Given the description of an element on the screen output the (x, y) to click on. 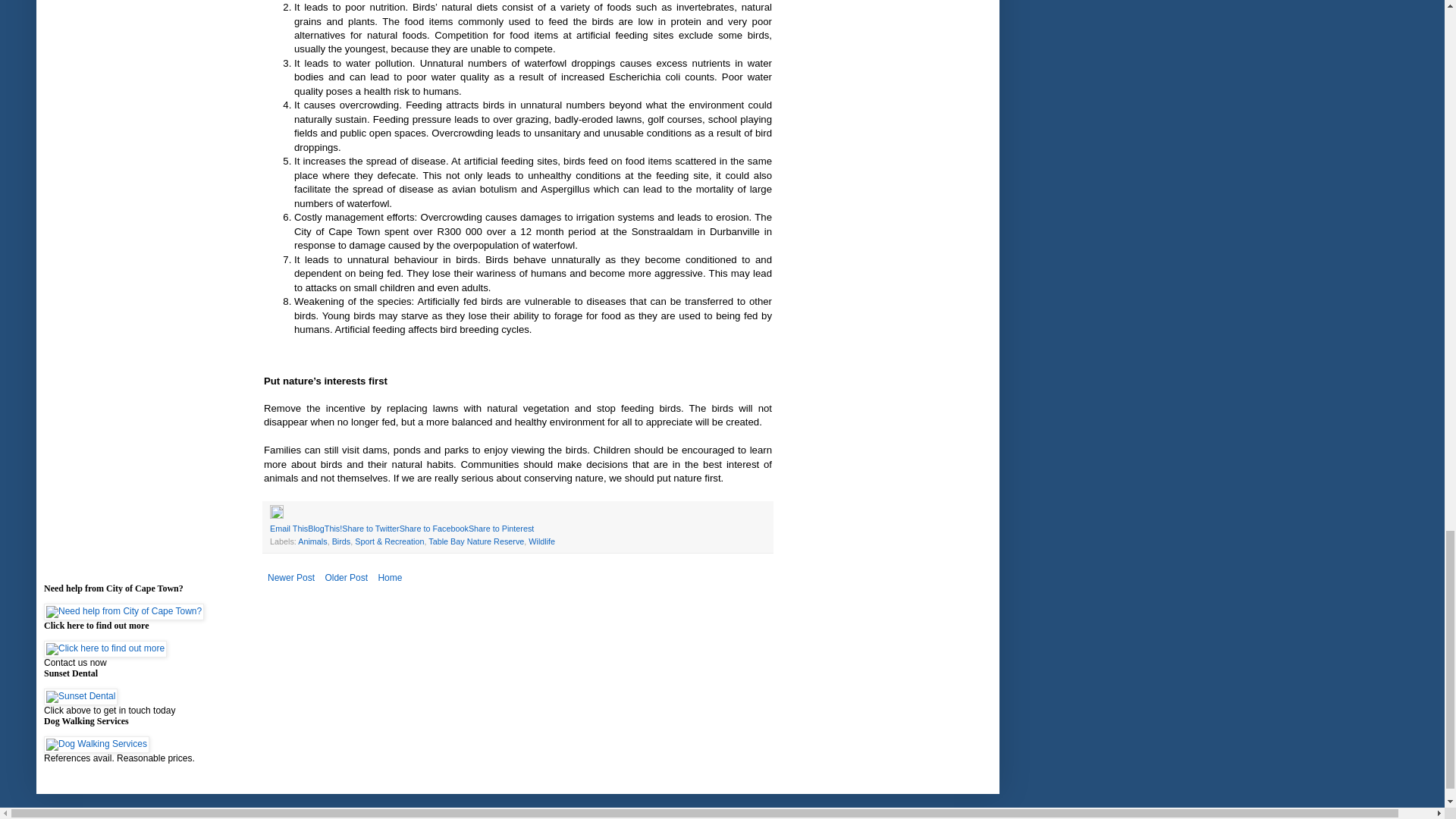
Share to Twitter (370, 528)
Home (390, 577)
Share to Facebook (433, 528)
Edit Post (276, 515)
Share to Pinterest (501, 528)
Email This (288, 528)
Table Bay Nature Reserve (476, 541)
Newer Post (290, 577)
Share to Twitter (370, 528)
Share to Facebook (433, 528)
